Given the description of an element on the screen output the (x, y) to click on. 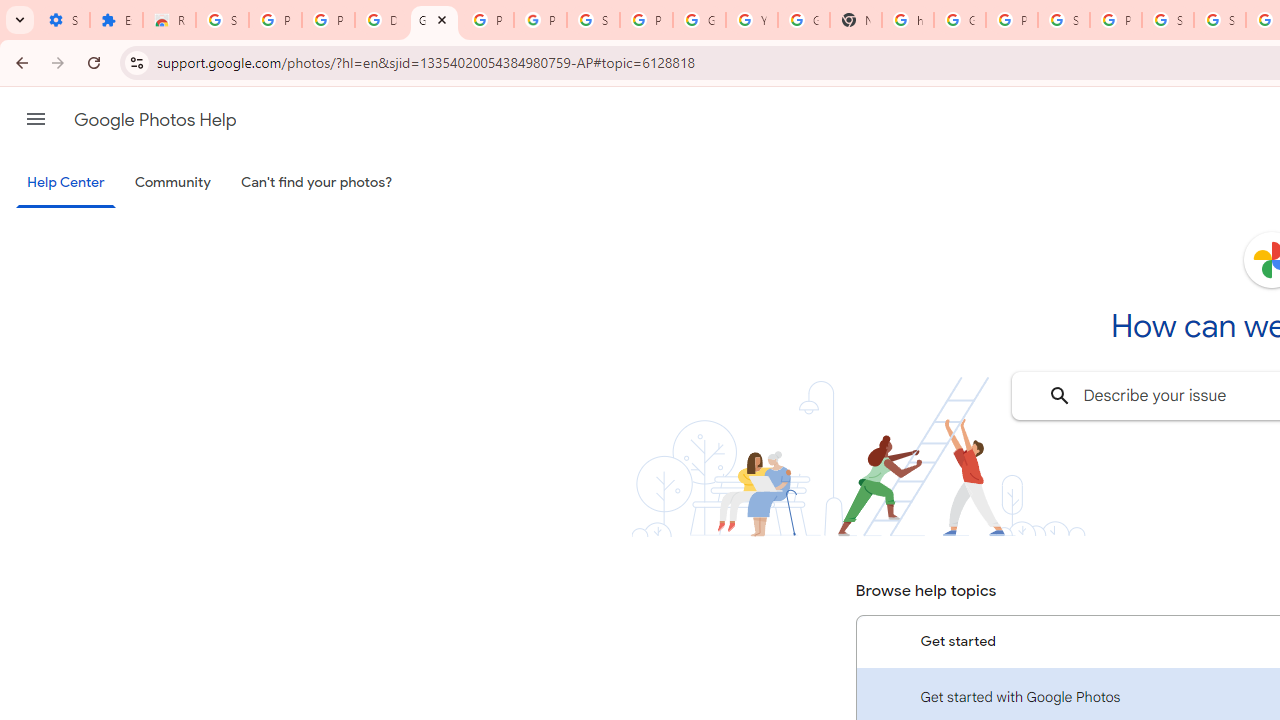
New Tab (855, 20)
YouTube (751, 20)
Sign in - Google Accounts (1064, 20)
Sign in - Google Accounts (222, 20)
Delete photos & videos - Computer - Google Photos Help (381, 20)
